Given the description of an element on the screen output the (x, y) to click on. 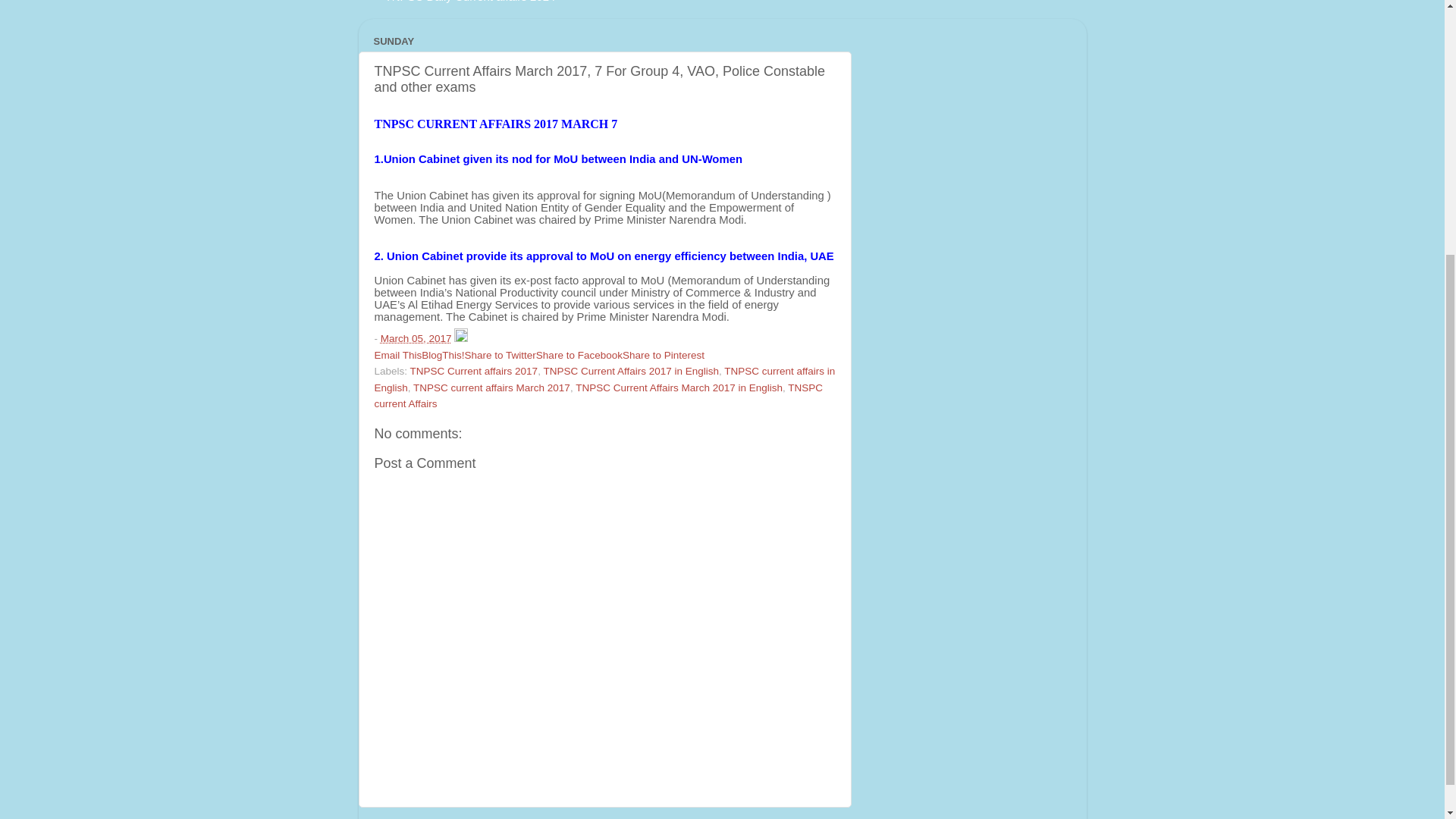
Share to Facebook (579, 355)
Edit Post (460, 337)
Share to Twitter (499, 355)
Email This (398, 355)
Share to Pinterest (663, 355)
TNSPC current Affairs (599, 396)
Share to Twitter (499, 355)
TNPSC current affairs in English (604, 379)
TNPSC Current Affairs March 2017 in English (679, 387)
TNPSC current affairs March 2017 (491, 387)
